Given the description of an element on the screen output the (x, y) to click on. 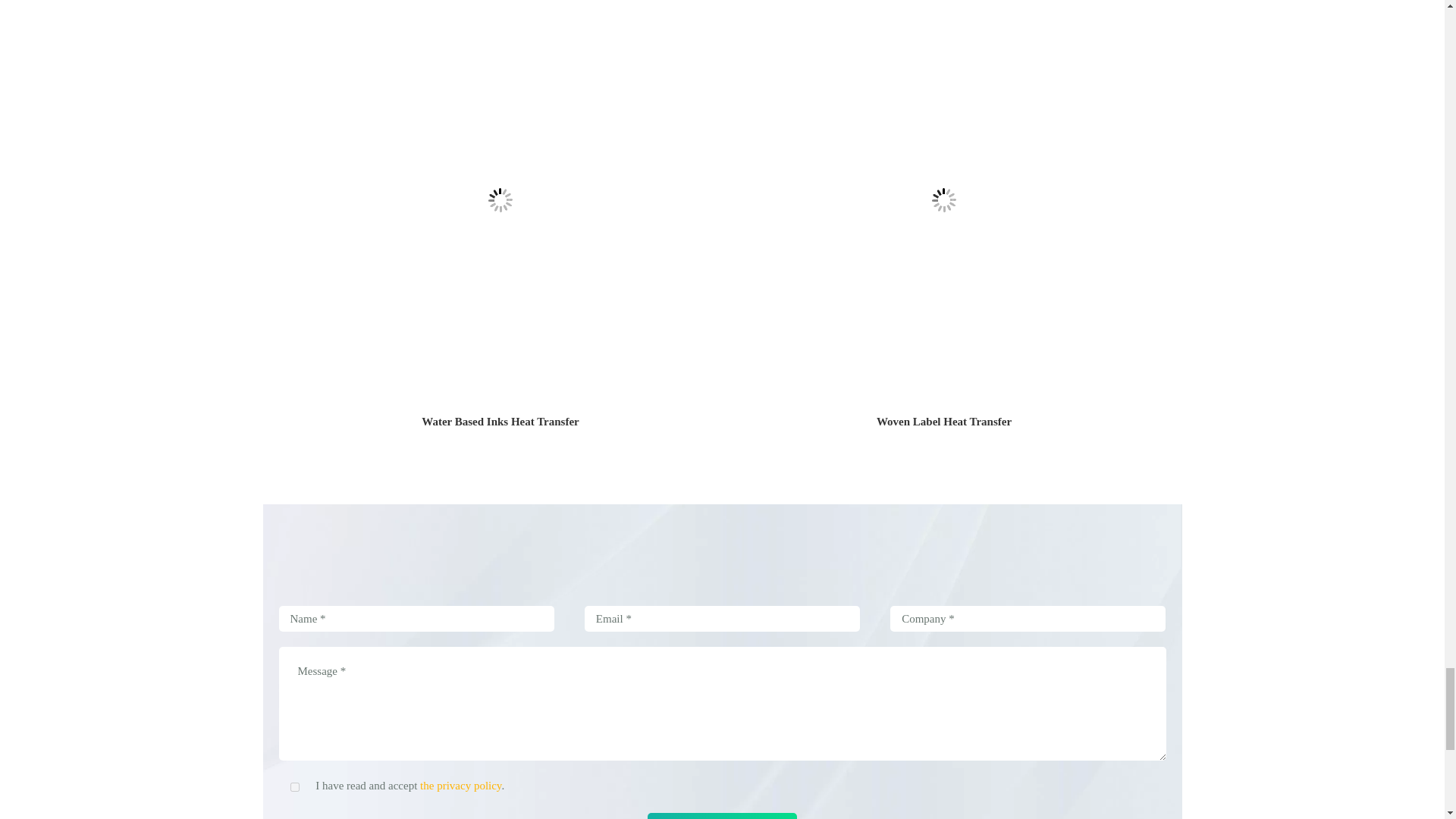
send (721, 816)
